Given the description of an element on the screen output the (x, y) to click on. 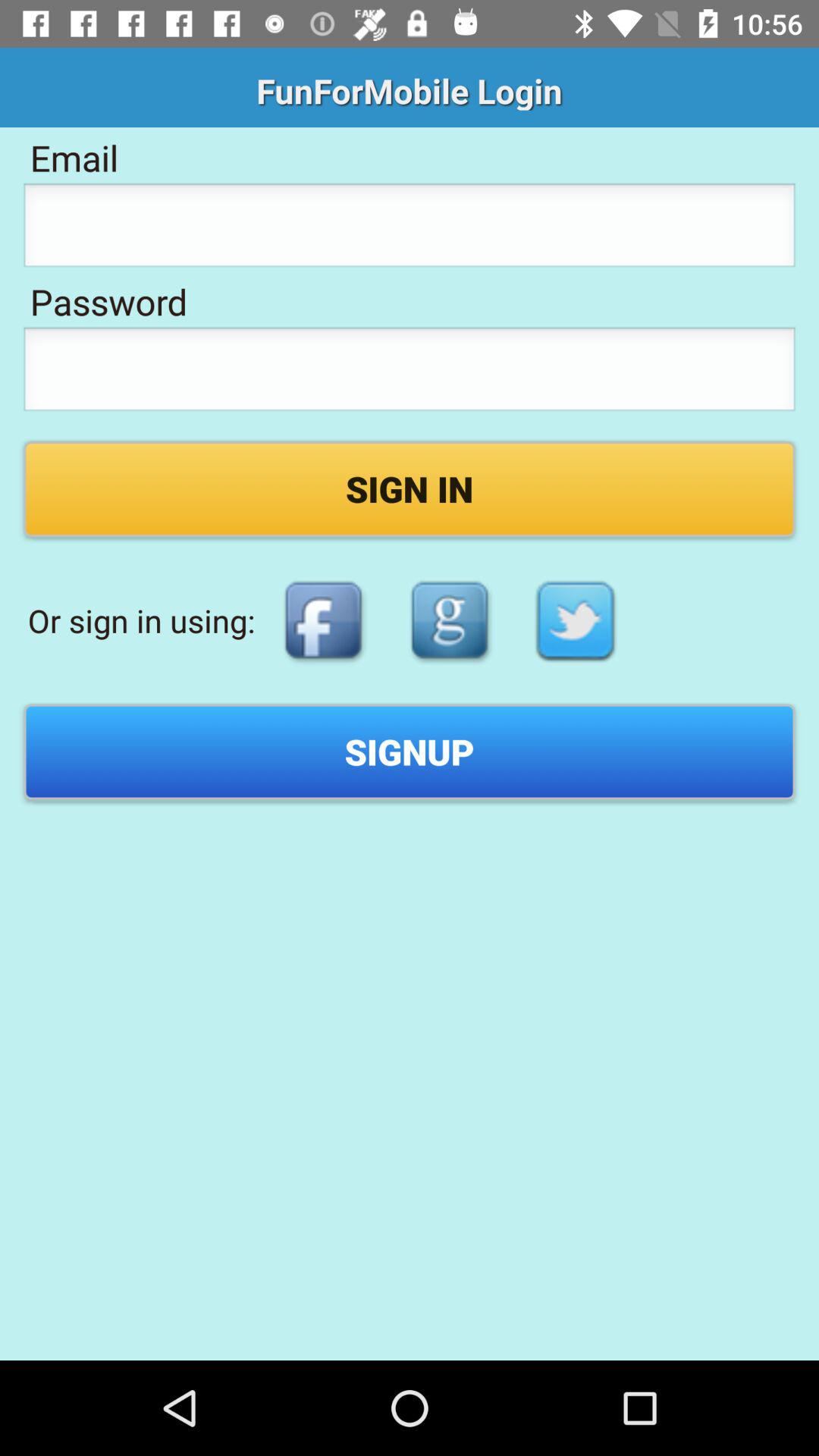
twitter link (576, 620)
